Given the description of an element on the screen output the (x, y) to click on. 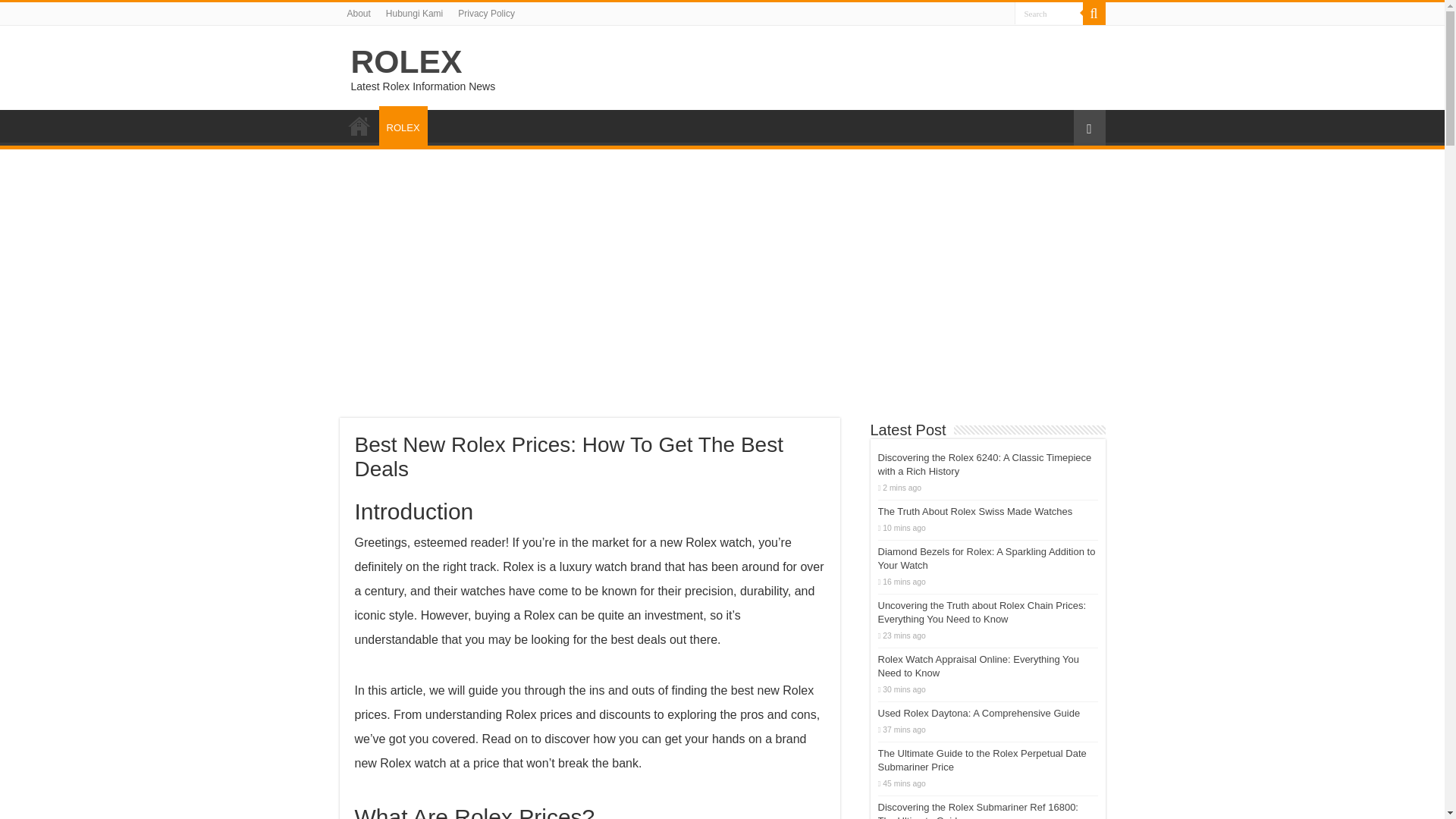
ROLEX (403, 125)
Rolex Watch Appraisal Online: Everything You Need to Know (977, 665)
The Truth About Rolex Swiss Made Watches (975, 511)
About (358, 13)
HOME (358, 125)
Search (1094, 13)
Search (1048, 13)
Hubungi Kami (413, 13)
Used Rolex Daytona: A Comprehensive Guide (978, 713)
Search (1048, 13)
